Given the description of an element on the screen output the (x, y) to click on. 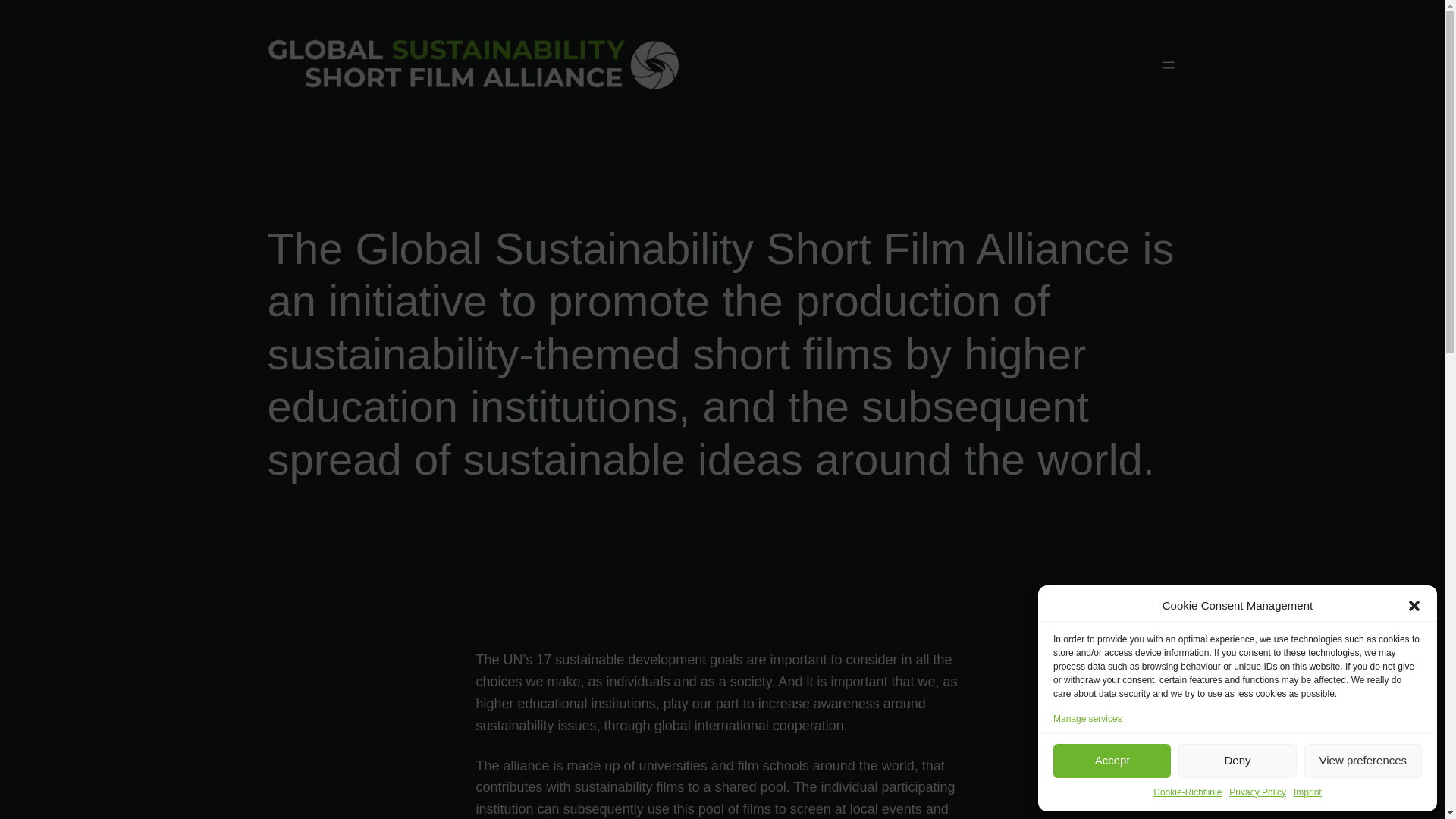
Privacy Policy (1256, 792)
View preferences (1363, 760)
Imprint (1308, 792)
Manage services (1087, 718)
Cookie-Richtlinie (1187, 792)
Accept (1111, 760)
Deny (1236, 760)
